Given the description of an element on the screen output the (x, y) to click on. 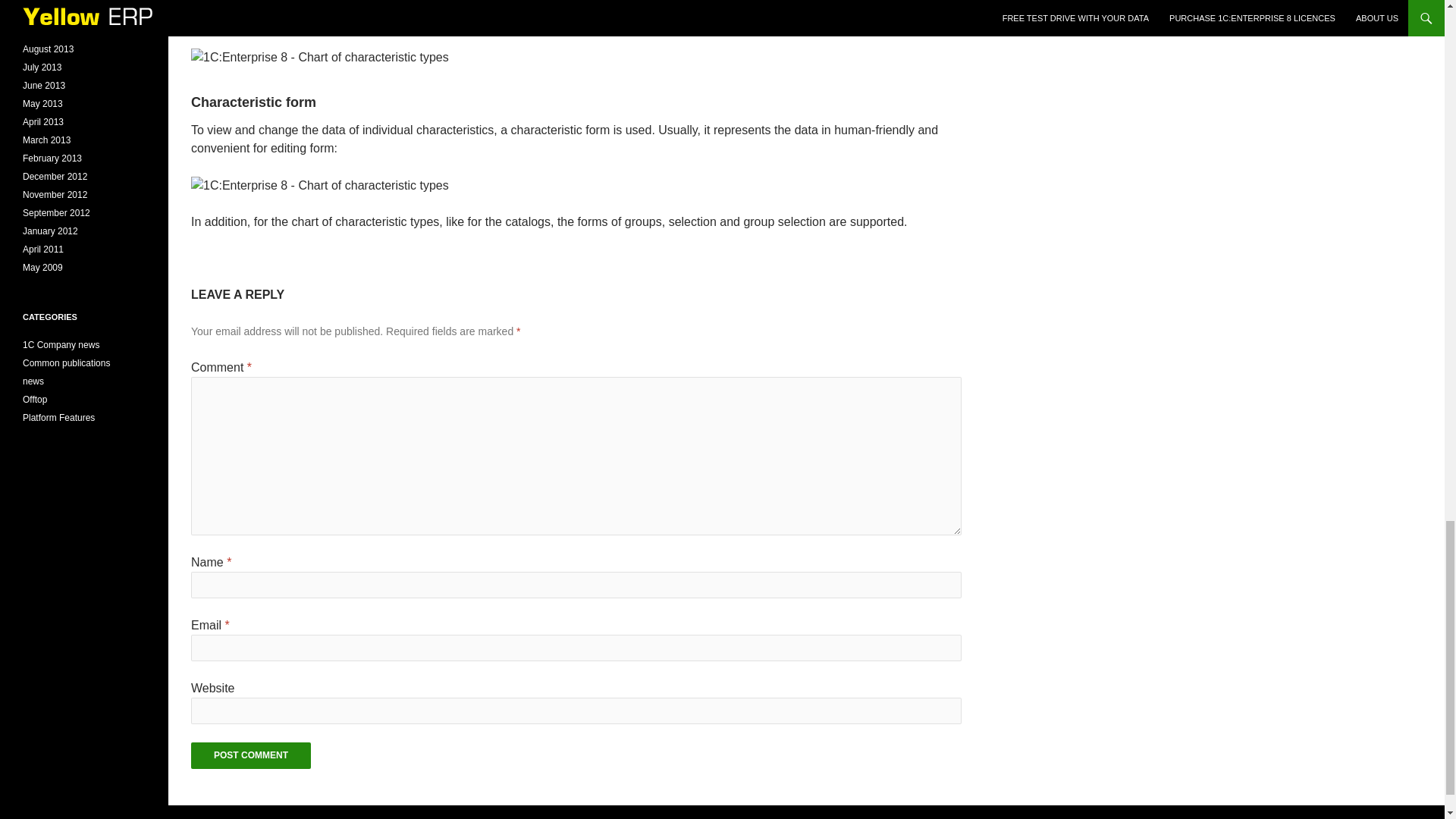
Post Comment (250, 755)
Post Comment (250, 755)
